Given the description of an element on the screen output the (x, y) to click on. 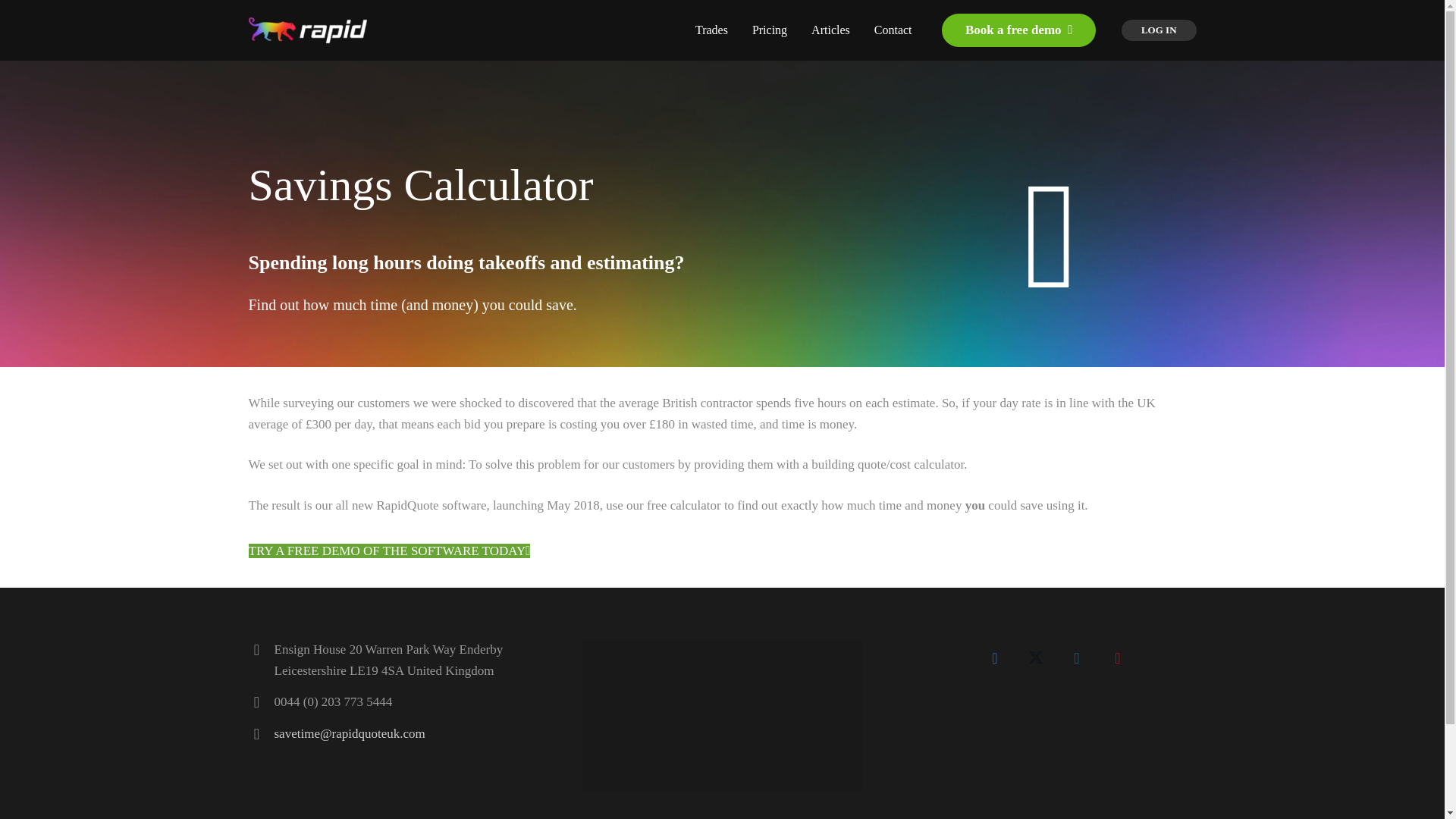
Contact (892, 30)
Book a free demo (1019, 29)
LOG IN (1158, 30)
LinkedIn (1077, 658)
Pricing (769, 30)
TRY A FREE DEMO OF THE SOFTWARE TODAY (389, 550)
Facebook (994, 658)
Twitter (1035, 658)
Articles (830, 30)
YouTube (1118, 658)
